Given the description of an element on the screen output the (x, y) to click on. 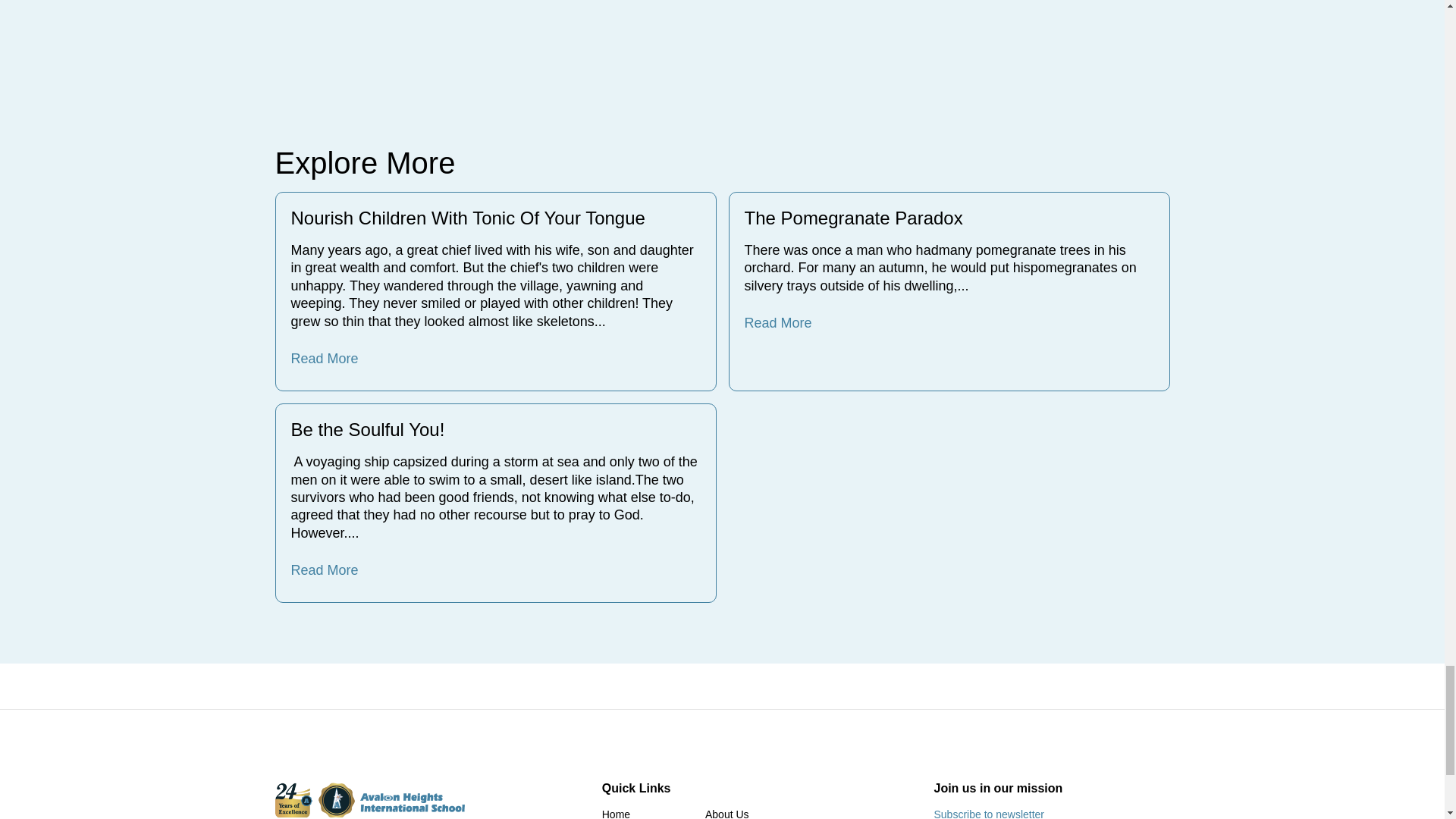
Home (616, 813)
